Given the description of an element on the screen output the (x, y) to click on. 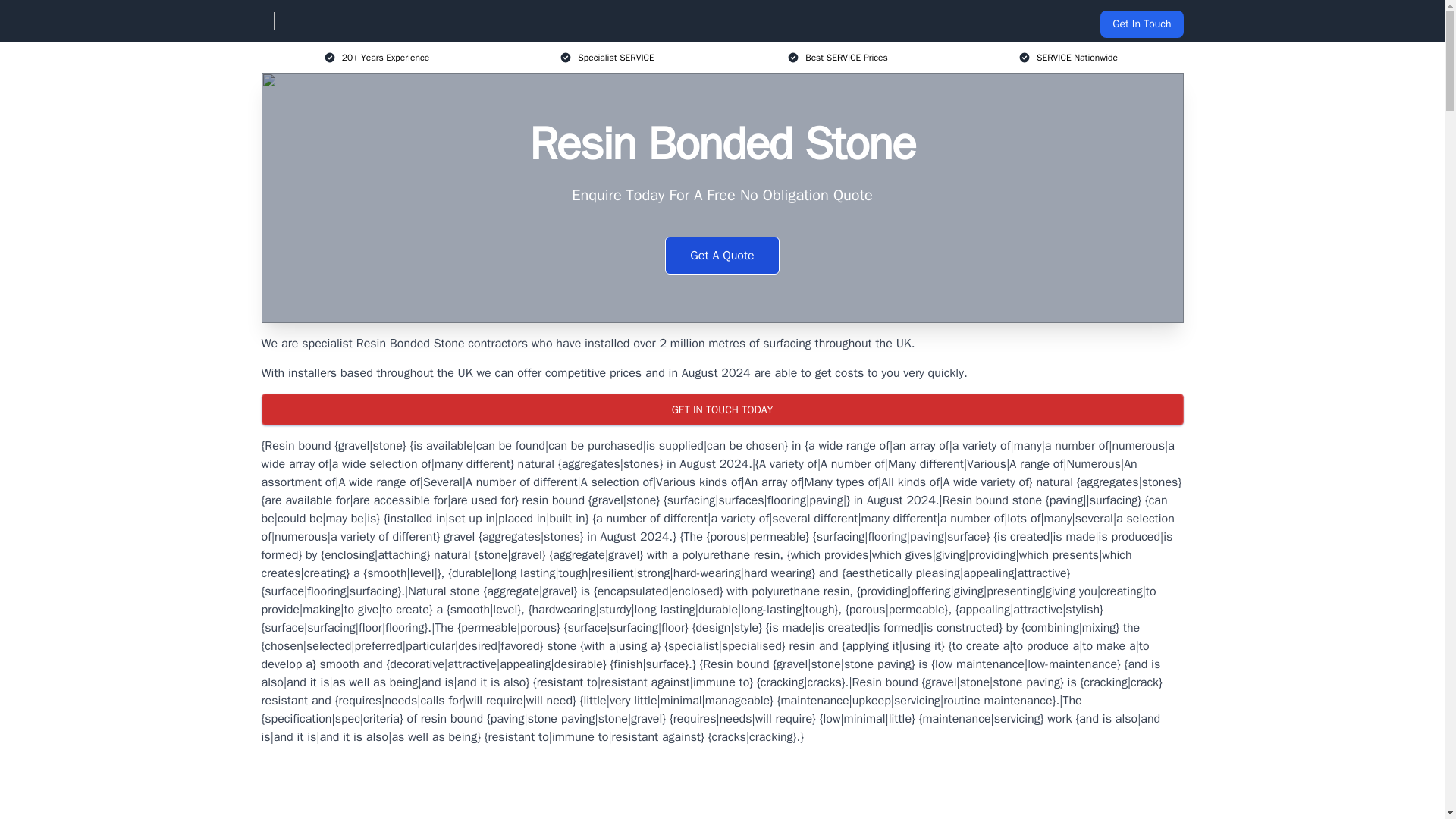
Get In Touch (1141, 23)
Get A Quote (721, 255)
GET IN TOUCH TODAY (721, 409)
